Given the description of an element on the screen output the (x, y) to click on. 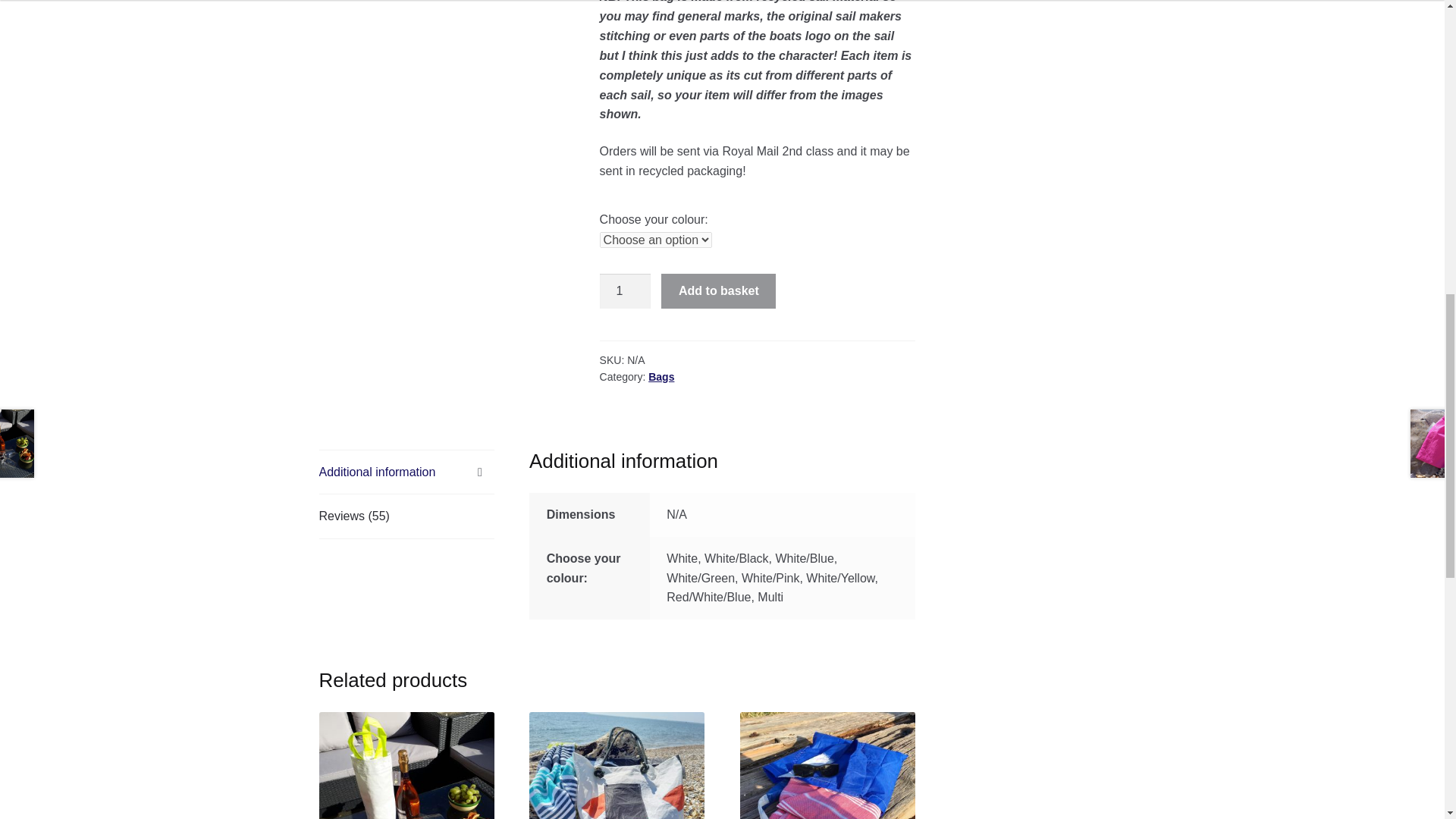
Bags (660, 377)
1 (624, 290)
Add to basket (718, 290)
